Given the description of an element on the screen output the (x, y) to click on. 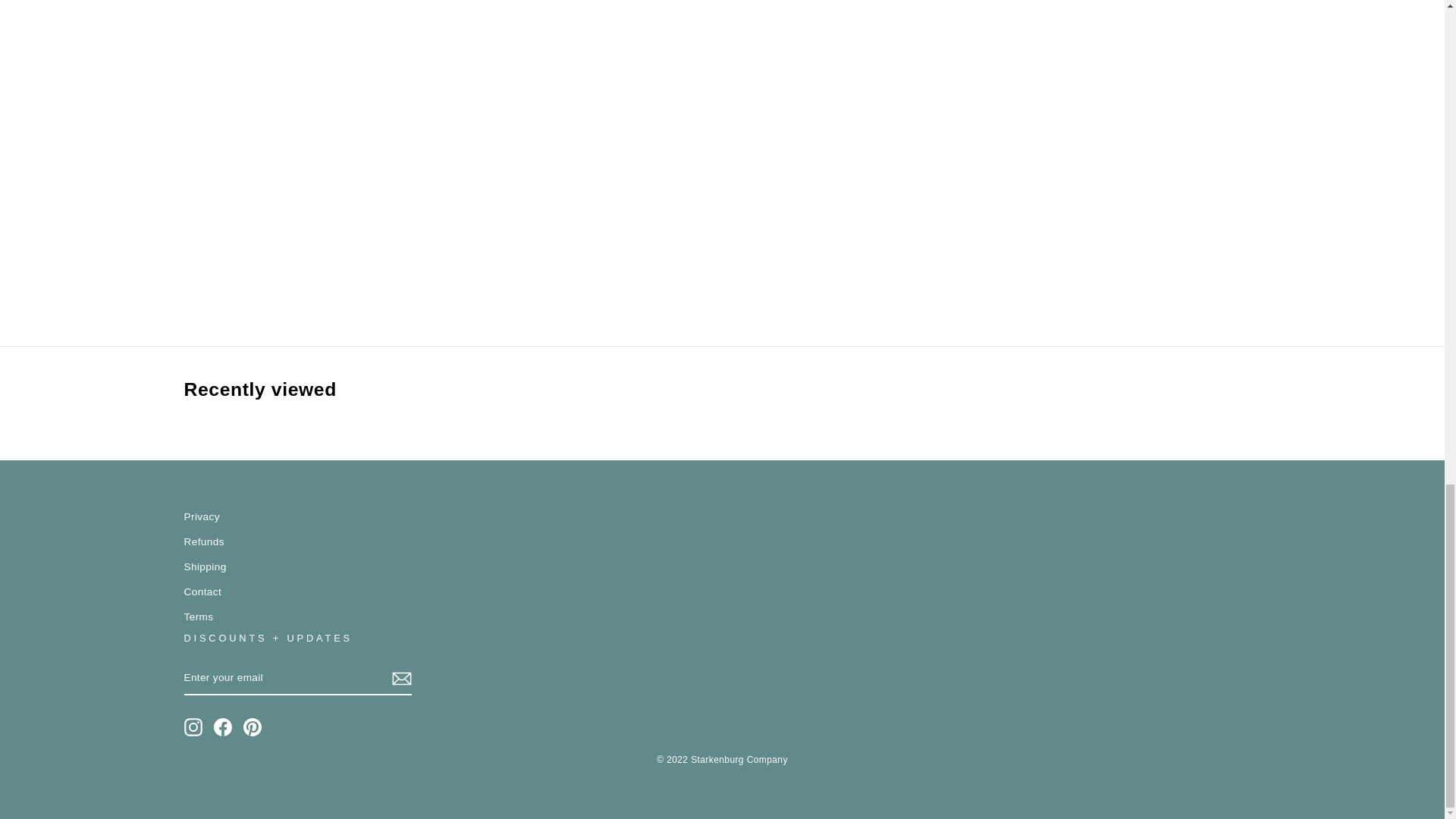
Aylev on Facebook (222, 726)
Aylev on Pinterest (251, 726)
Aylev on Instagram (192, 726)
